Given the description of an element on the screen output the (x, y) to click on. 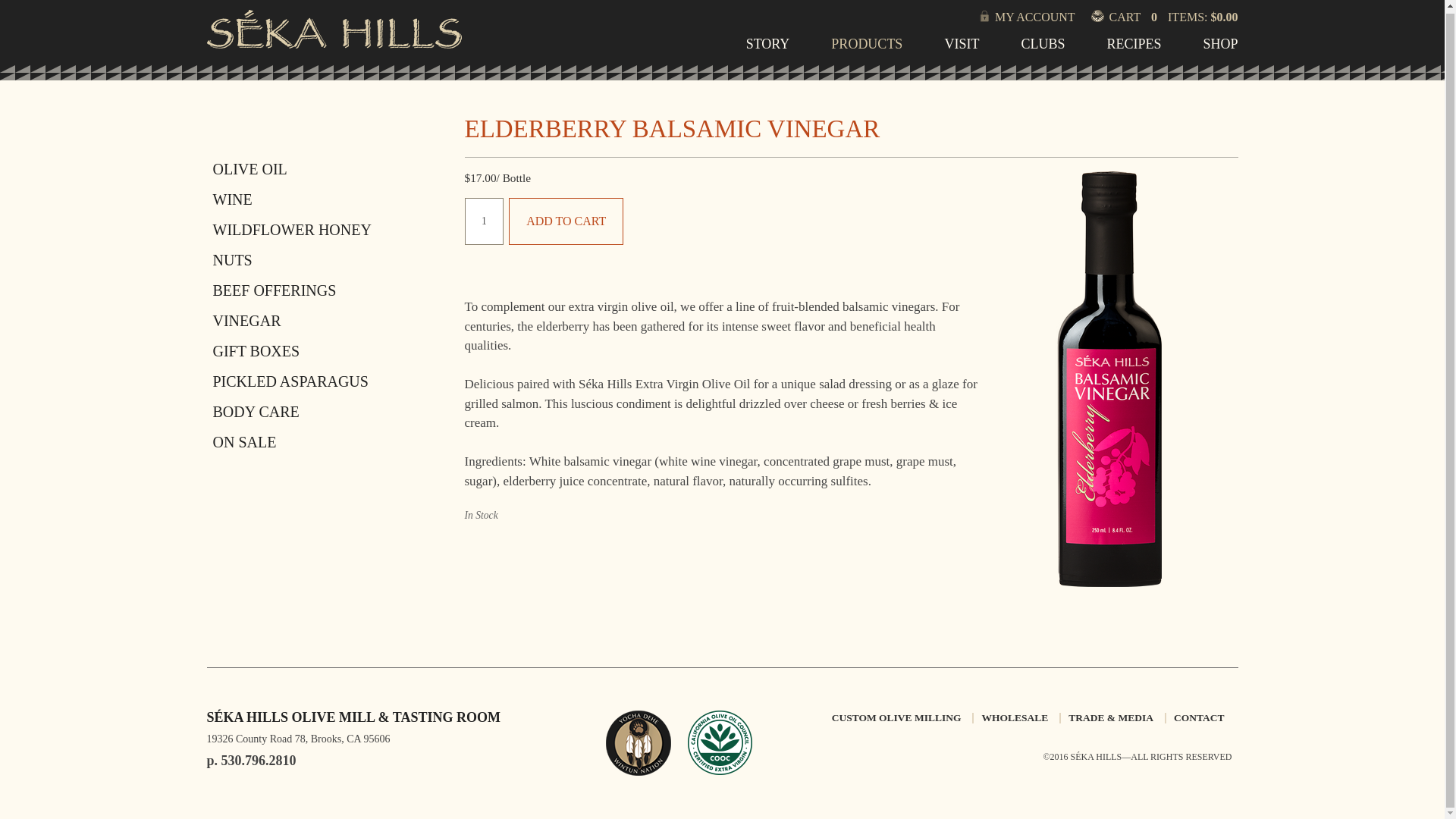
MY ACCOUNT (1051, 16)
SHOP (1219, 48)
PRODUCTS (866, 48)
VISIT (960, 48)
CLUBS (1042, 48)
STORY (767, 48)
RECIPES (1133, 48)
